Given the description of an element on the screen output the (x, y) to click on. 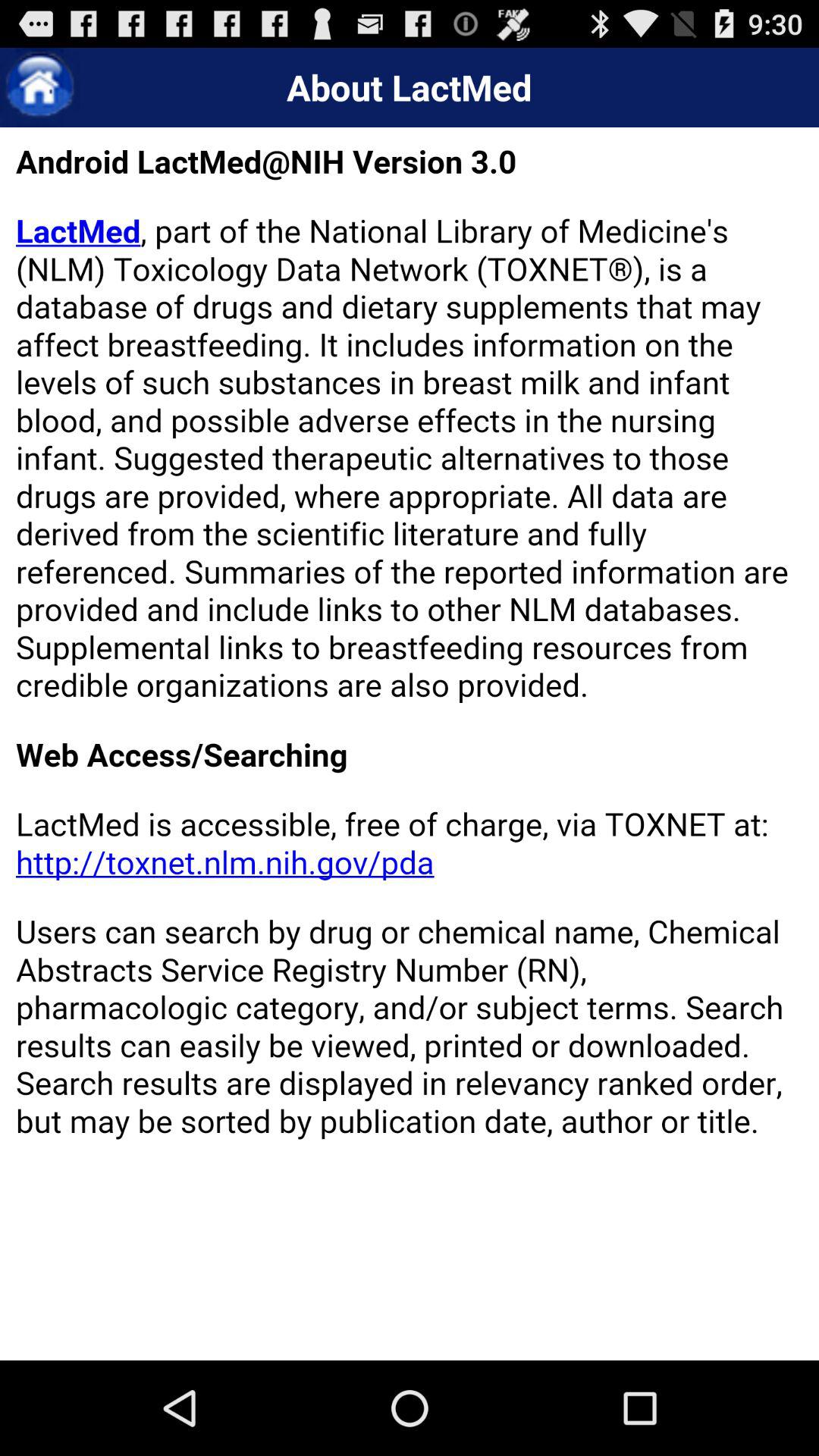
home page (39, 87)
